Given the description of an element on the screen output the (x, y) to click on. 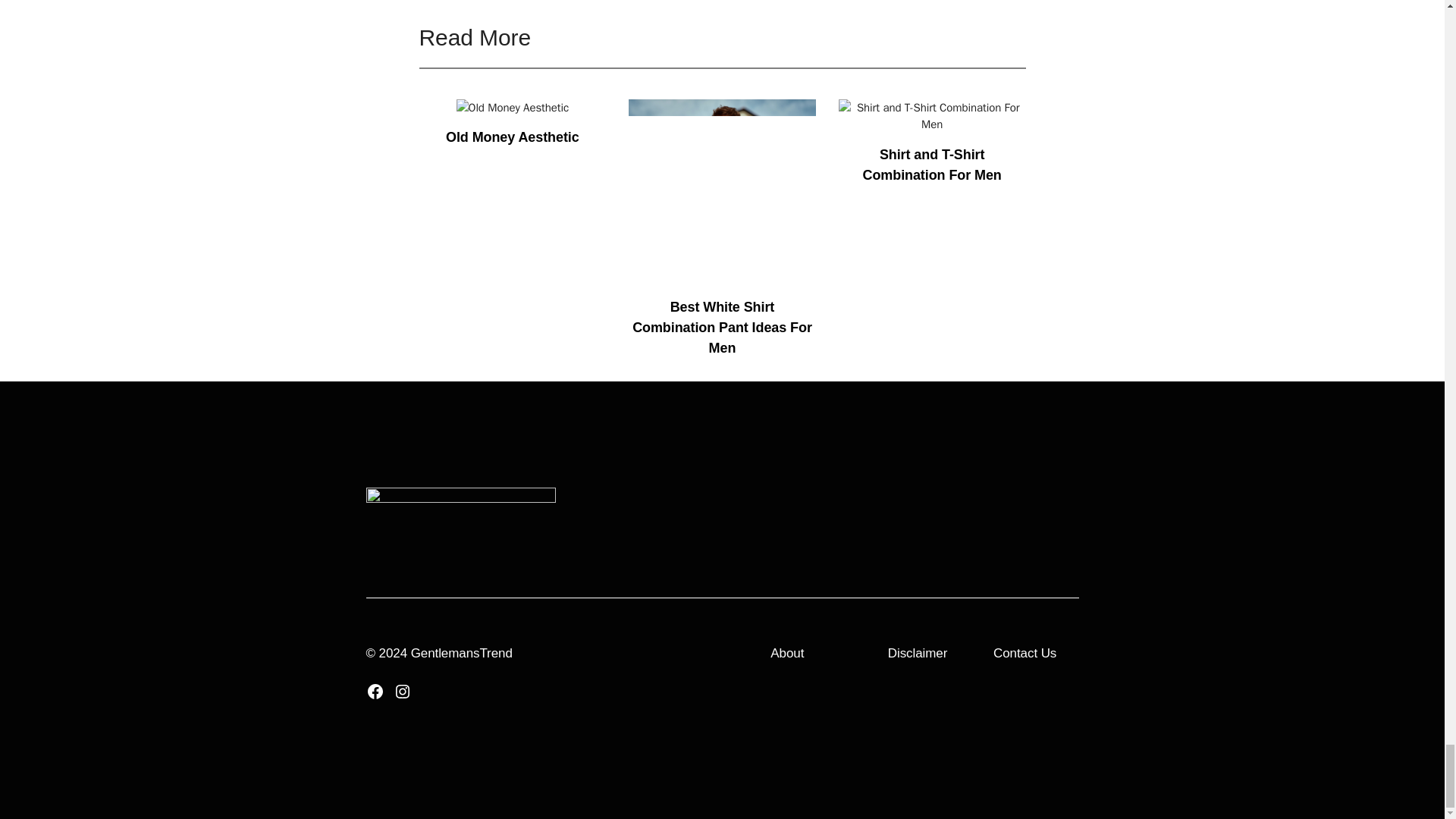
About (787, 653)
Disclaimer (917, 653)
Old Money Aesthetic (513, 107)
Best White Shirt Combination Pant Ideas For Men (721, 327)
Facebook (374, 691)
Best White Shirt Combination Pant Ideas For Men (721, 277)
Instagram (401, 691)
Old Money Aesthetic (512, 136)
Shirt and T-Shirt Combination For Men (932, 163)
Contact Us (1024, 653)
